Given the description of an element on the screen output the (x, y) to click on. 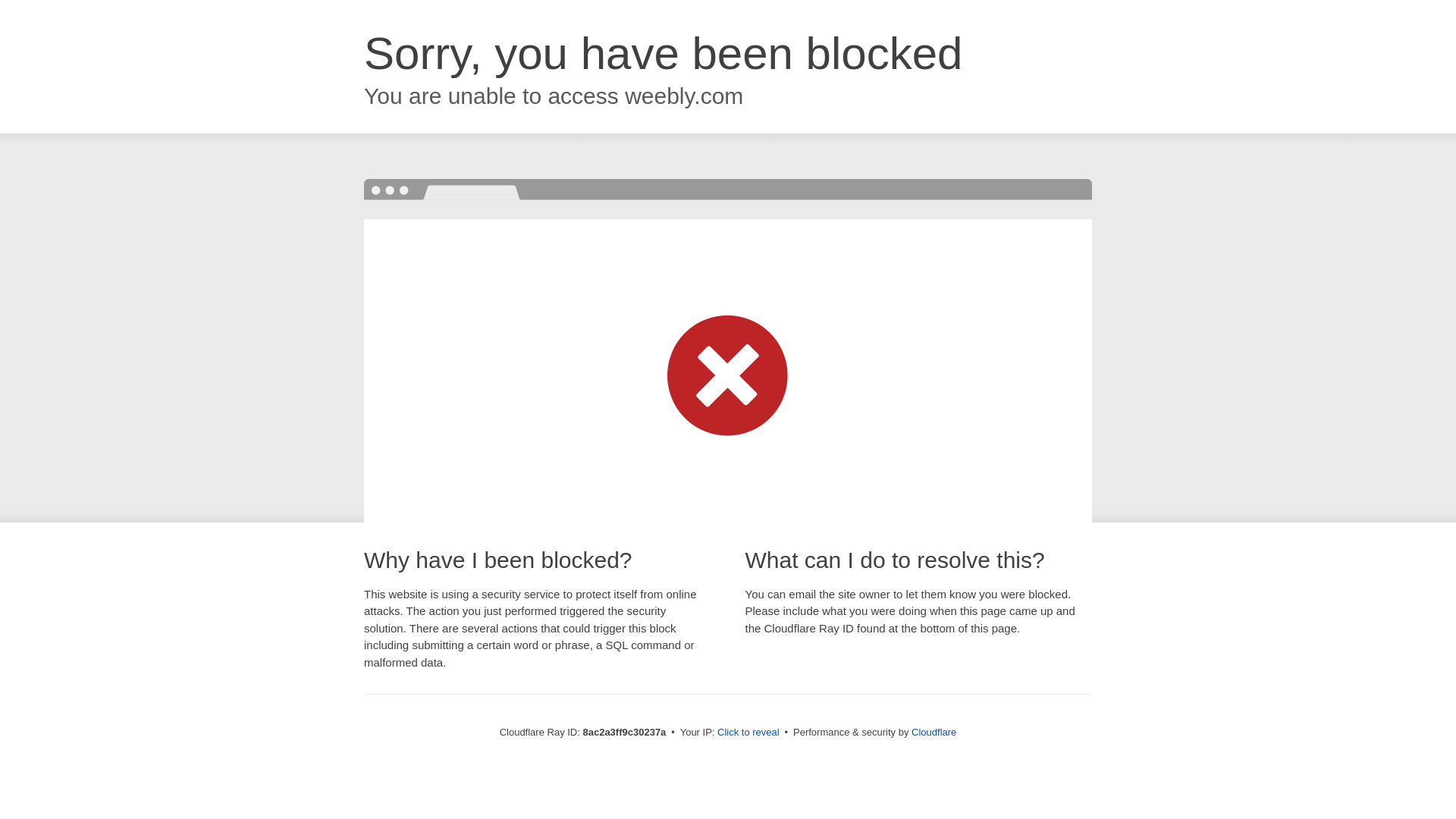
Click to reveal (747, 732)
Cloudflare (933, 731)
